Given the description of an element on the screen output the (x, y) to click on. 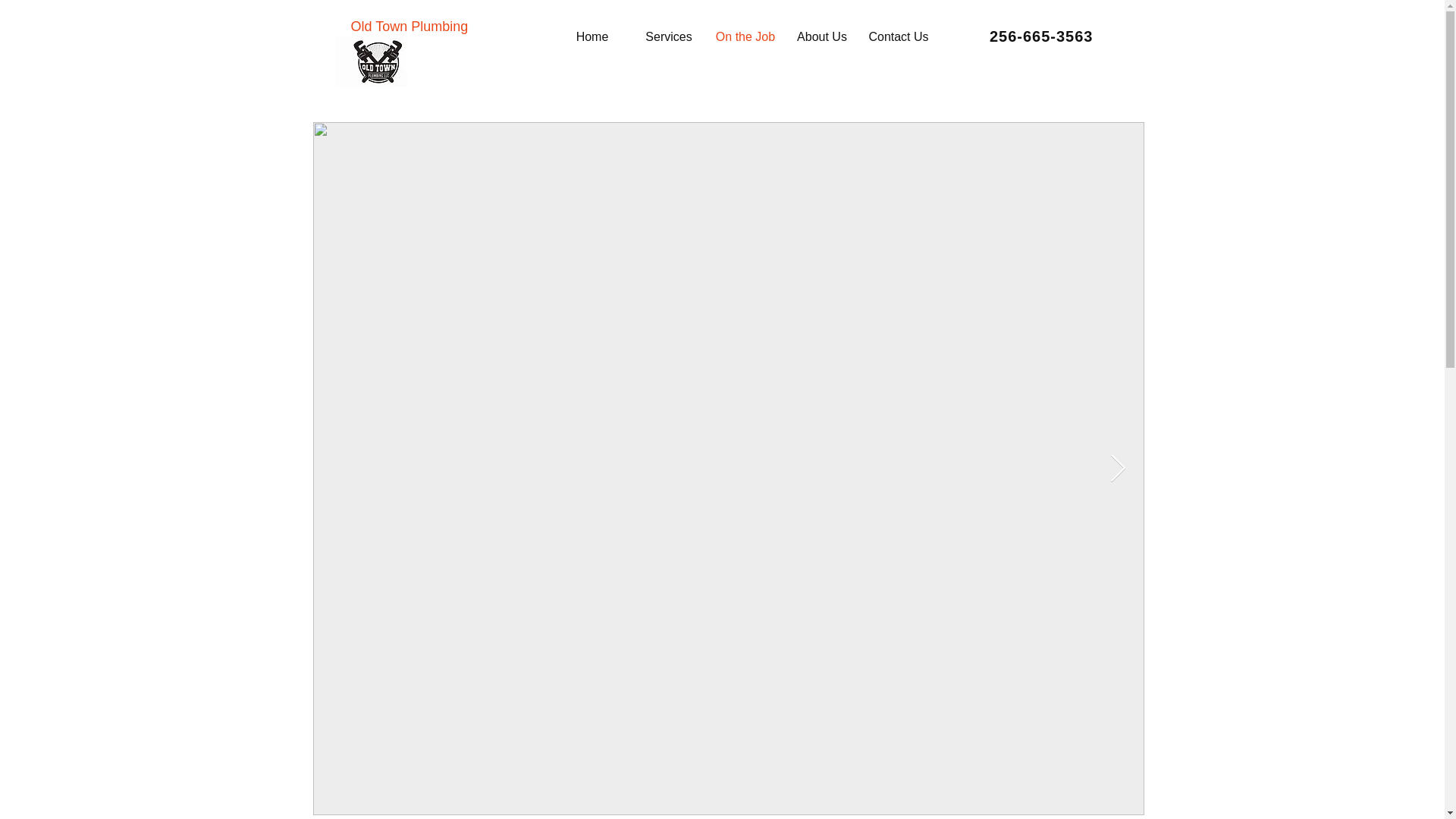
On the Job (744, 36)
Home (591, 36)
Services (668, 36)
Old Town Plumbing (408, 26)
About Us (822, 36)
Contact Us (898, 36)
